Given the description of an element on the screen output the (x, y) to click on. 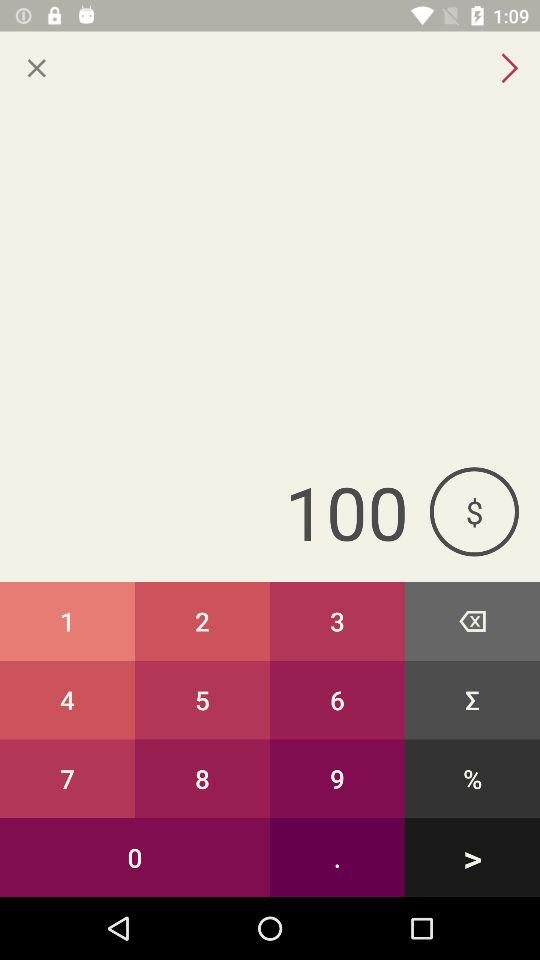
turn on icon below 100 (67, 620)
